Given the description of an element on the screen output the (x, y) to click on. 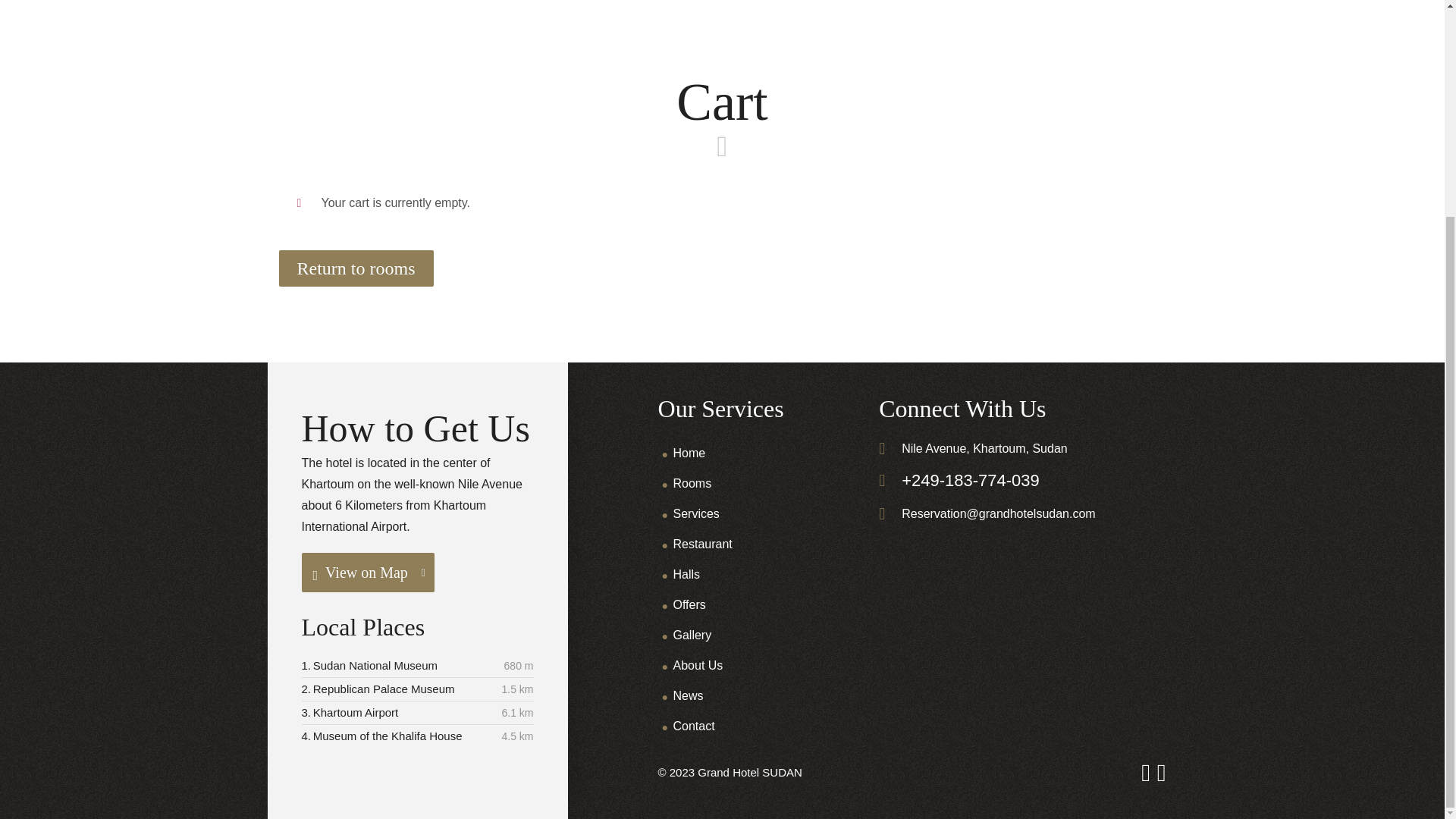
Offers (689, 604)
About Us (697, 664)
View on Map (367, 572)
Services (695, 513)
Home (689, 452)
Halls (686, 574)
Return to rooms (356, 268)
Gallery (691, 634)
Rooms (691, 483)
News (687, 695)
